Given the description of an element on the screen output the (x, y) to click on. 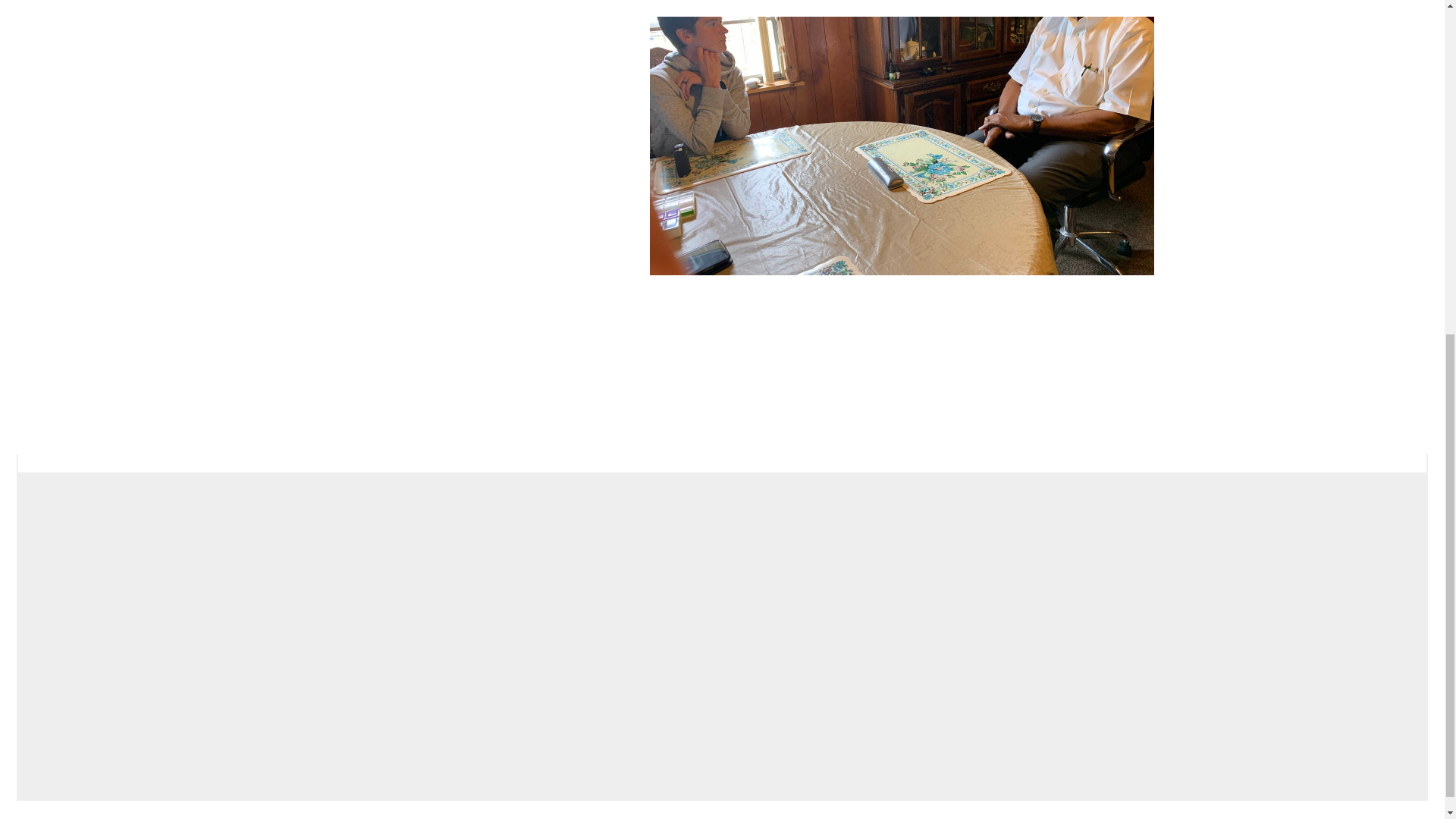
Facebook (314, 6)
Pinterest (424, 6)
Twitter X (371, 6)
Email (470, 6)
